Given the description of an element on the screen output the (x, y) to click on. 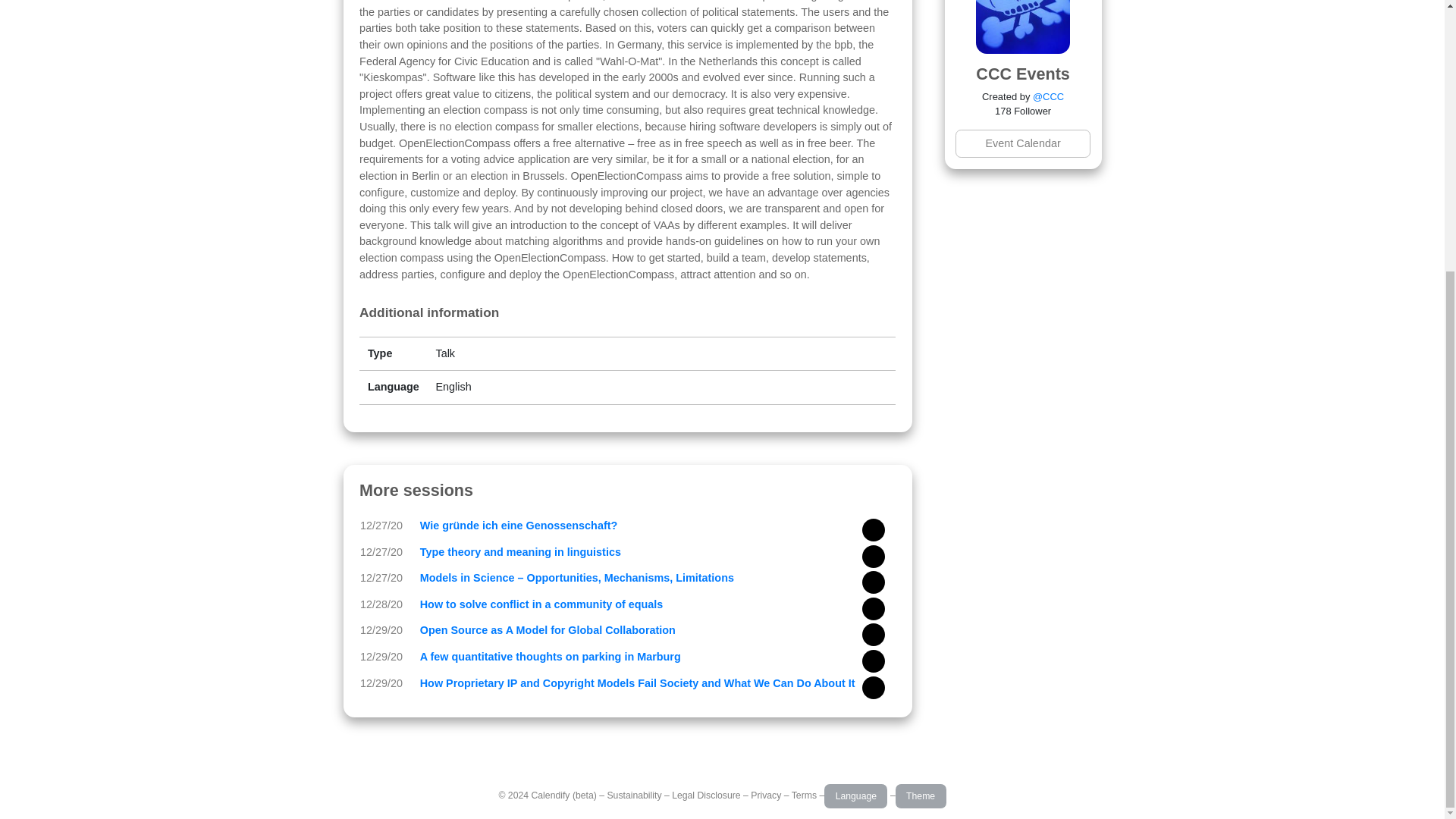
Type theory and meaning in linguistics (520, 551)
Legal Disclosure (705, 795)
Event Calendar (1022, 143)
How to solve conflict in a community of equals (541, 604)
Privacy (765, 795)
A few quantitative thoughts on parking in Marburg (550, 656)
Sustainability (634, 795)
Open Source as A Model for Global Collaboration (547, 630)
